Given the description of an element on the screen output the (x, y) to click on. 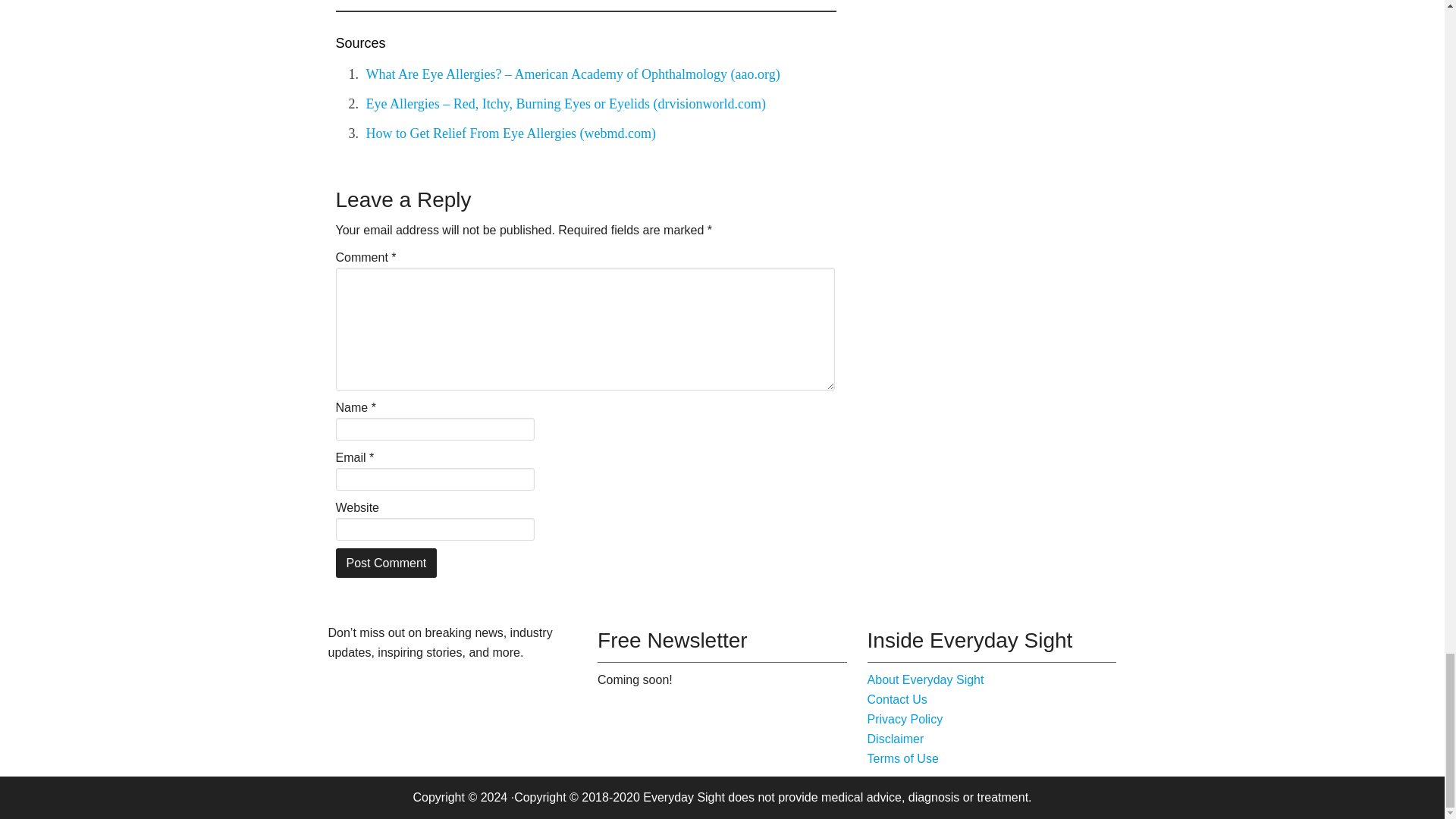
Terms of Use (903, 758)
Privacy Policy (905, 718)
Post Comment (385, 562)
Disclaimer (895, 738)
Contact Us (897, 698)
About Everyday Sight (925, 679)
Post Comment (385, 562)
